Given the description of an element on the screen output the (x, y) to click on. 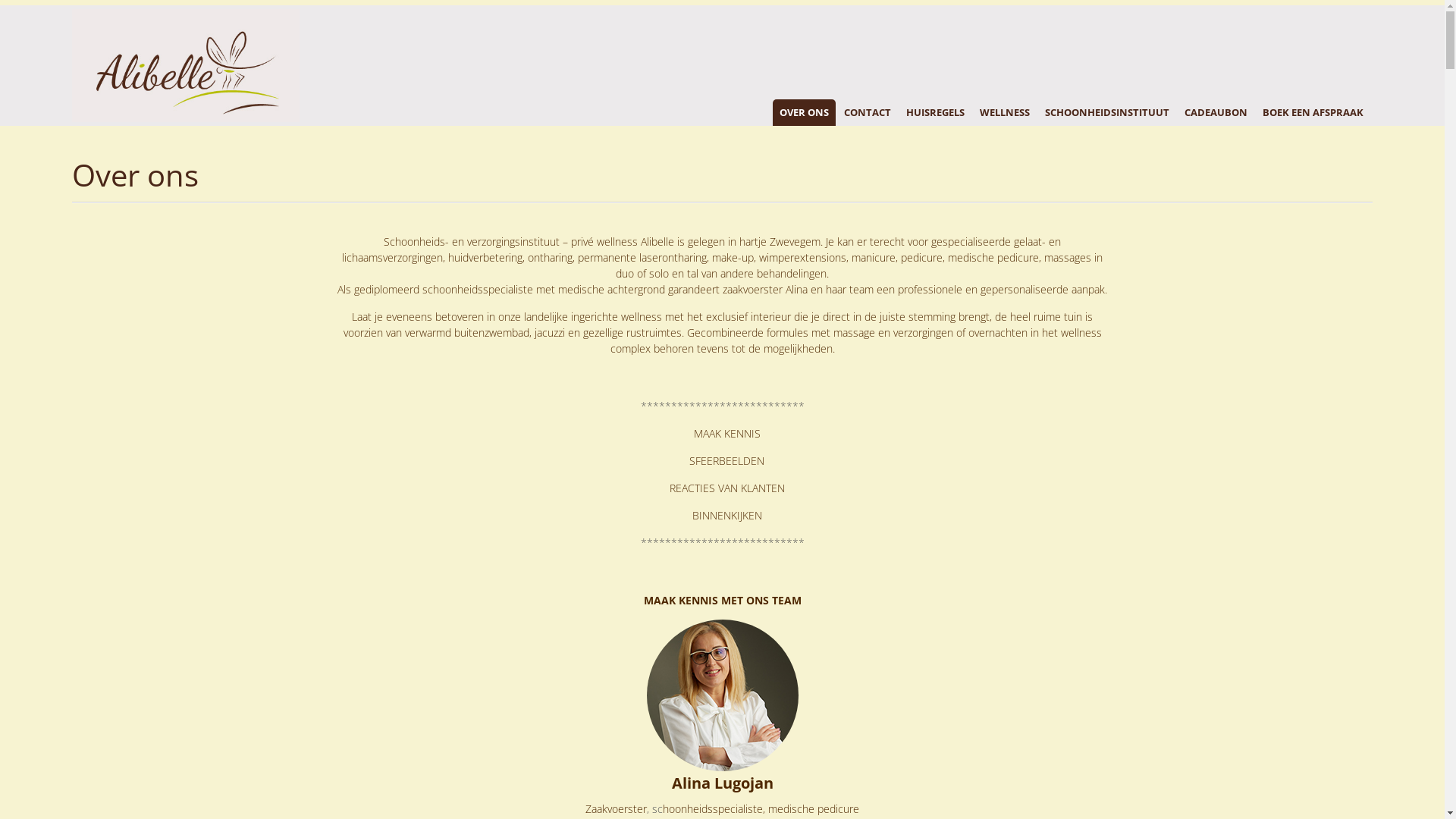
CADEAUBON Element type: text (1215, 112)
WELLNESS Element type: text (1004, 112)
CONTACT Element type: text (867, 112)
OVER ONS Element type: text (803, 112)
BOEK EEN AFSPRAAK Element type: text (1312, 112)
SCHOONHEIDSINSTITUUT Element type: text (1107, 112)
HUISREGELS Element type: text (935, 112)
